Given the description of an element on the screen output the (x, y) to click on. 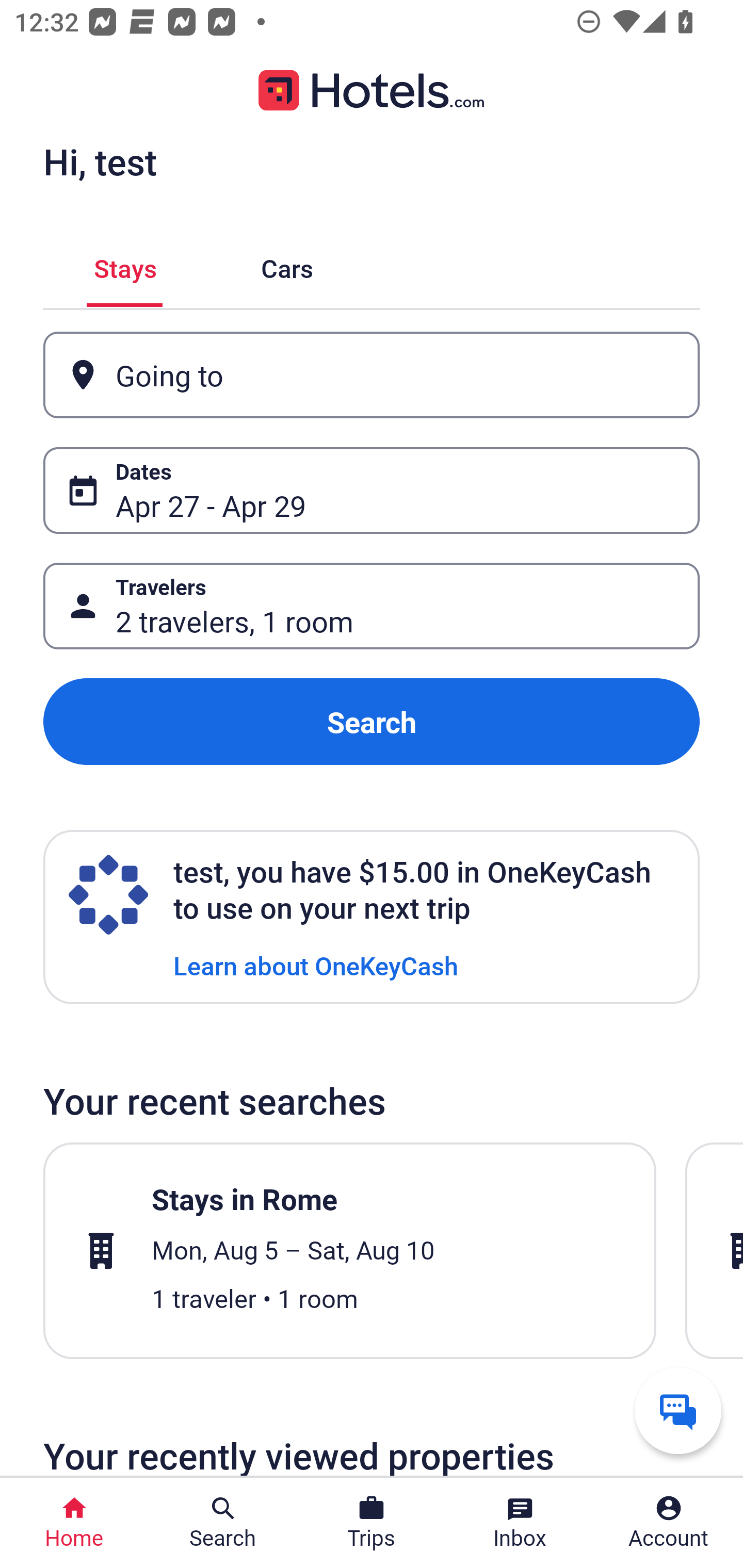
Hi, test (99, 161)
Cars (286, 265)
Going to Button (371, 375)
Dates Button Apr 27 - Apr 29 (371, 489)
Travelers Button 2 travelers, 1 room (371, 605)
Search (371, 721)
Learn about OneKeyCash Learn about OneKeyCash Link (315, 964)
Get help from a virtual agent (677, 1410)
Search Search Button (222, 1522)
Trips Trips Button (371, 1522)
Inbox Inbox Button (519, 1522)
Account Profile. Button (668, 1522)
